Given the description of an element on the screen output the (x, y) to click on. 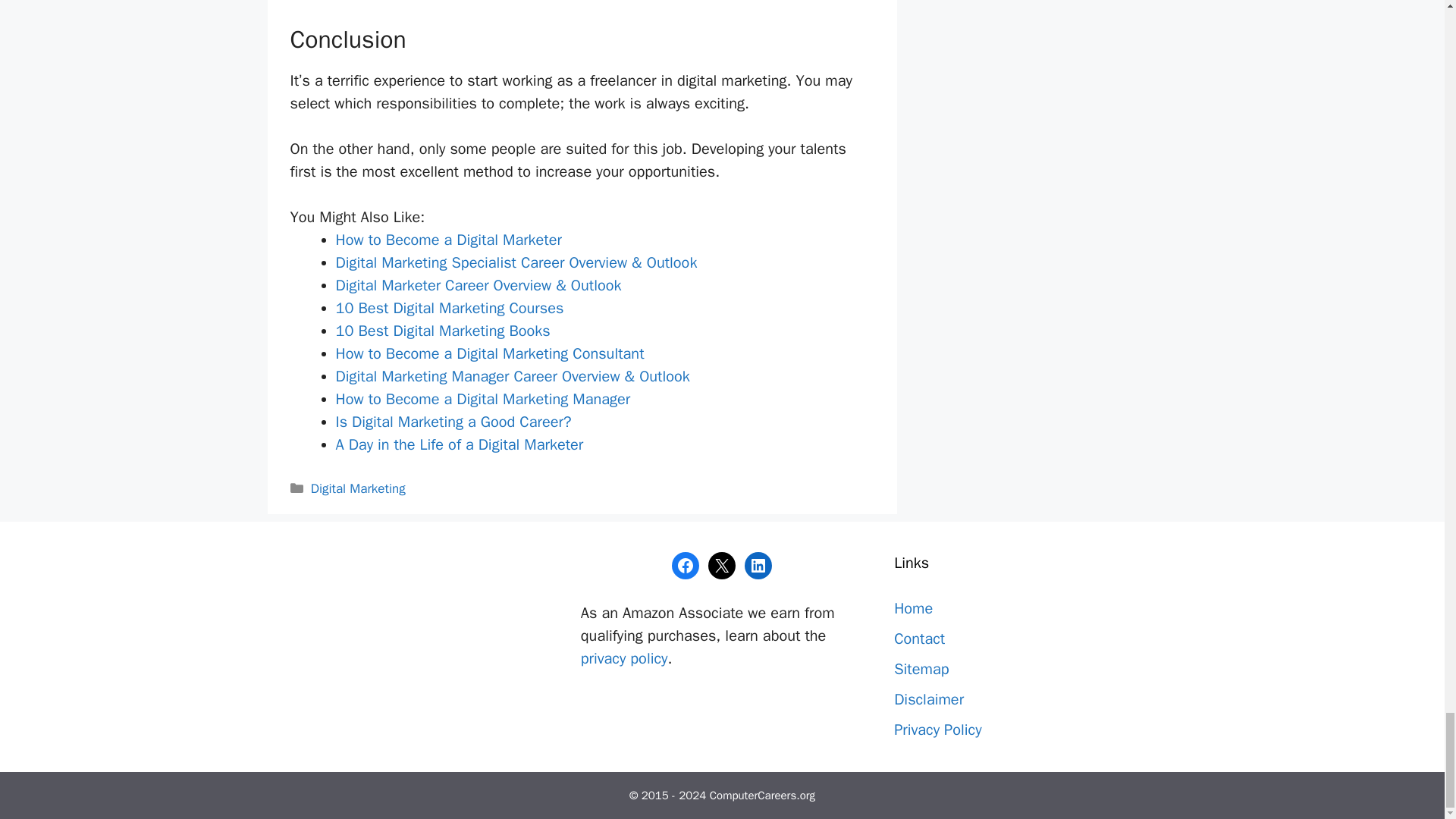
How to Become a Digital Marketer (447, 239)
10 Best Digital Marketing Books (442, 330)
How to Become a Digital Marketing Consultant (488, 353)
A Day in the Life of a Digital Marketer (458, 444)
Is Digital Marketing a Good Career? (452, 421)
How to Become a Digital Marketing Manager (482, 398)
10 Best Digital Marketing Courses (448, 307)
